Given the description of an element on the screen output the (x, y) to click on. 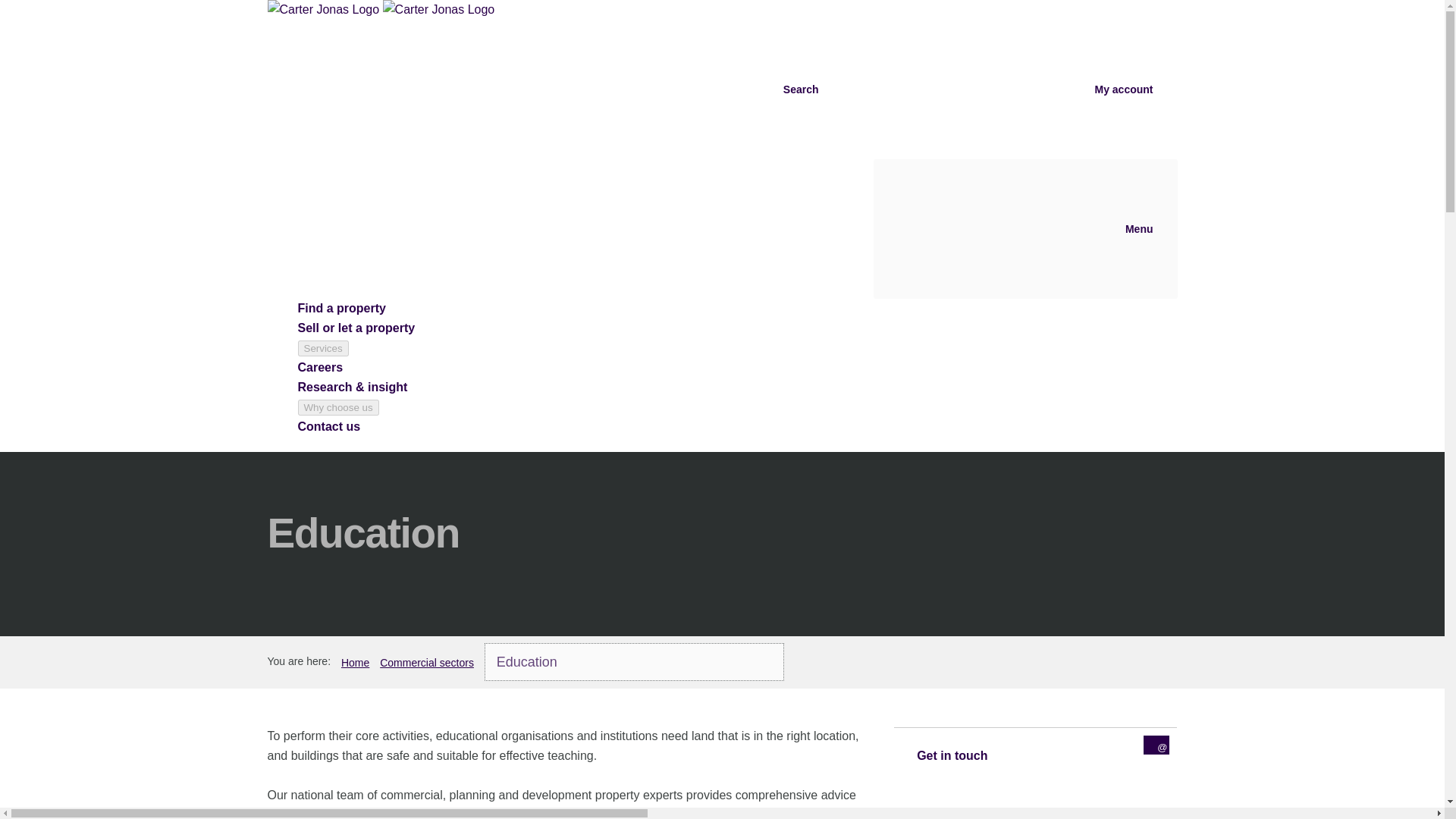
My account (1010, 88)
Menu (1025, 228)
Find a property (341, 308)
Homepage (380, 9)
Search (687, 88)
Services (322, 348)
Sell or let a property (355, 327)
